Given the description of an element on the screen output the (x, y) to click on. 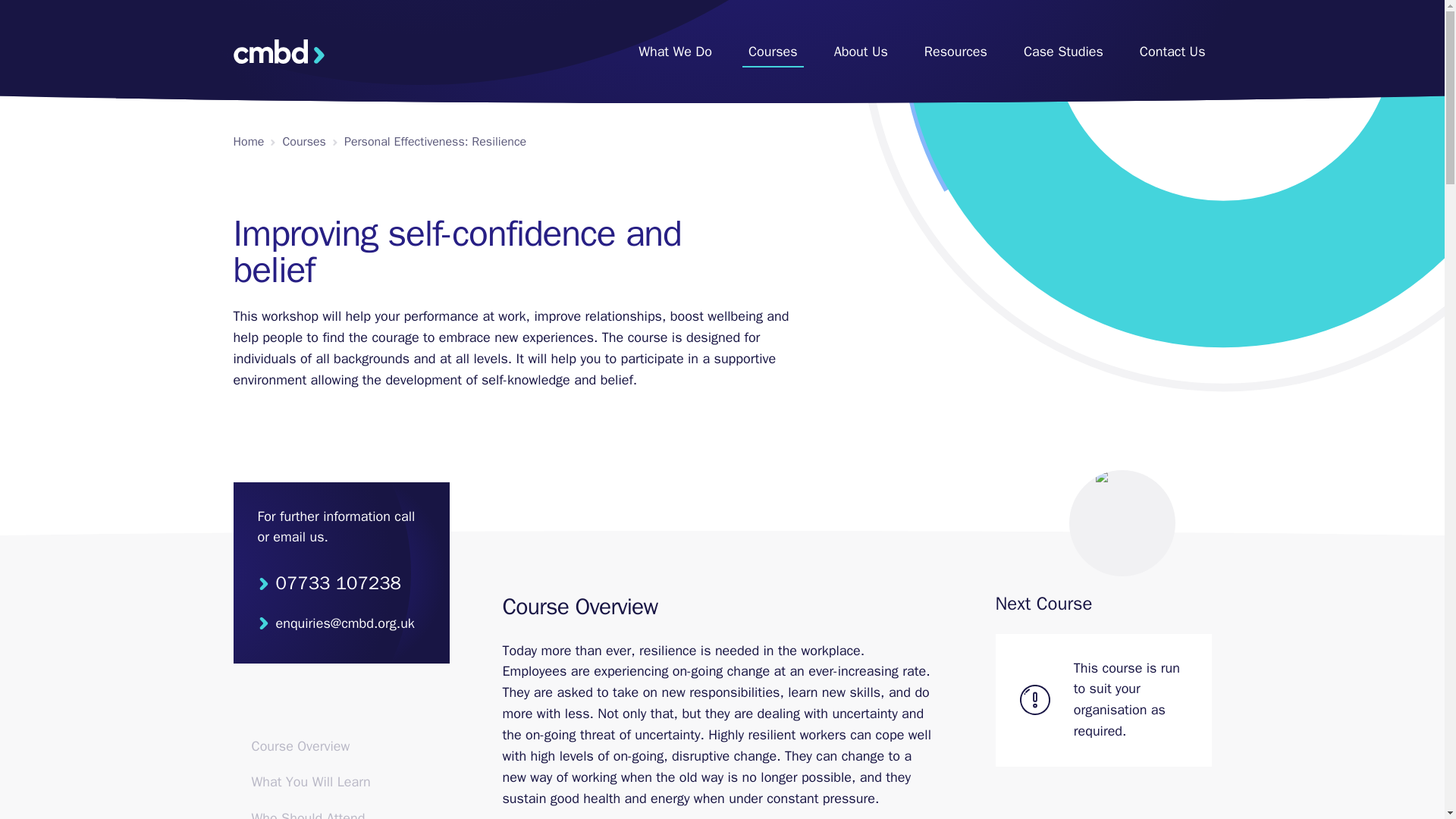
Case Studies (1063, 51)
CMBD (278, 51)
Contact Us (1172, 51)
What We Do (674, 51)
Who Should Attend (340, 813)
Resources (955, 51)
Course Overview (340, 746)
Courses (304, 141)
Courses (772, 51)
What You Will Learn (340, 782)
